Given the description of an element on the screen output the (x, y) to click on. 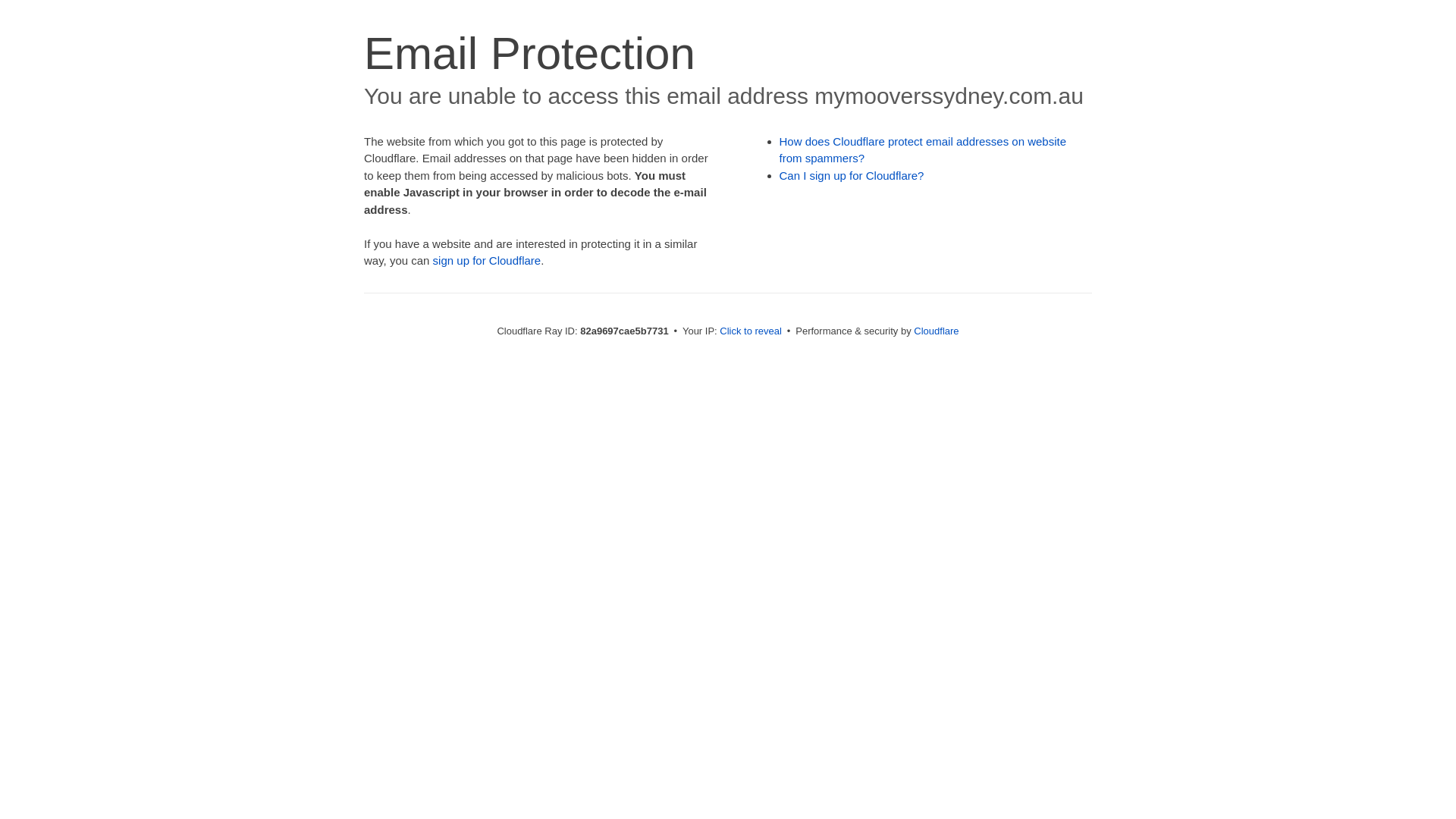
sign up for Cloudflare Element type: text (487, 260)
Click to reveal Element type: text (750, 330)
Cloudflare Element type: text (935, 330)
Can I sign up for Cloudflare? Element type: text (851, 175)
